Given the description of an element on the screen output the (x, y) to click on. 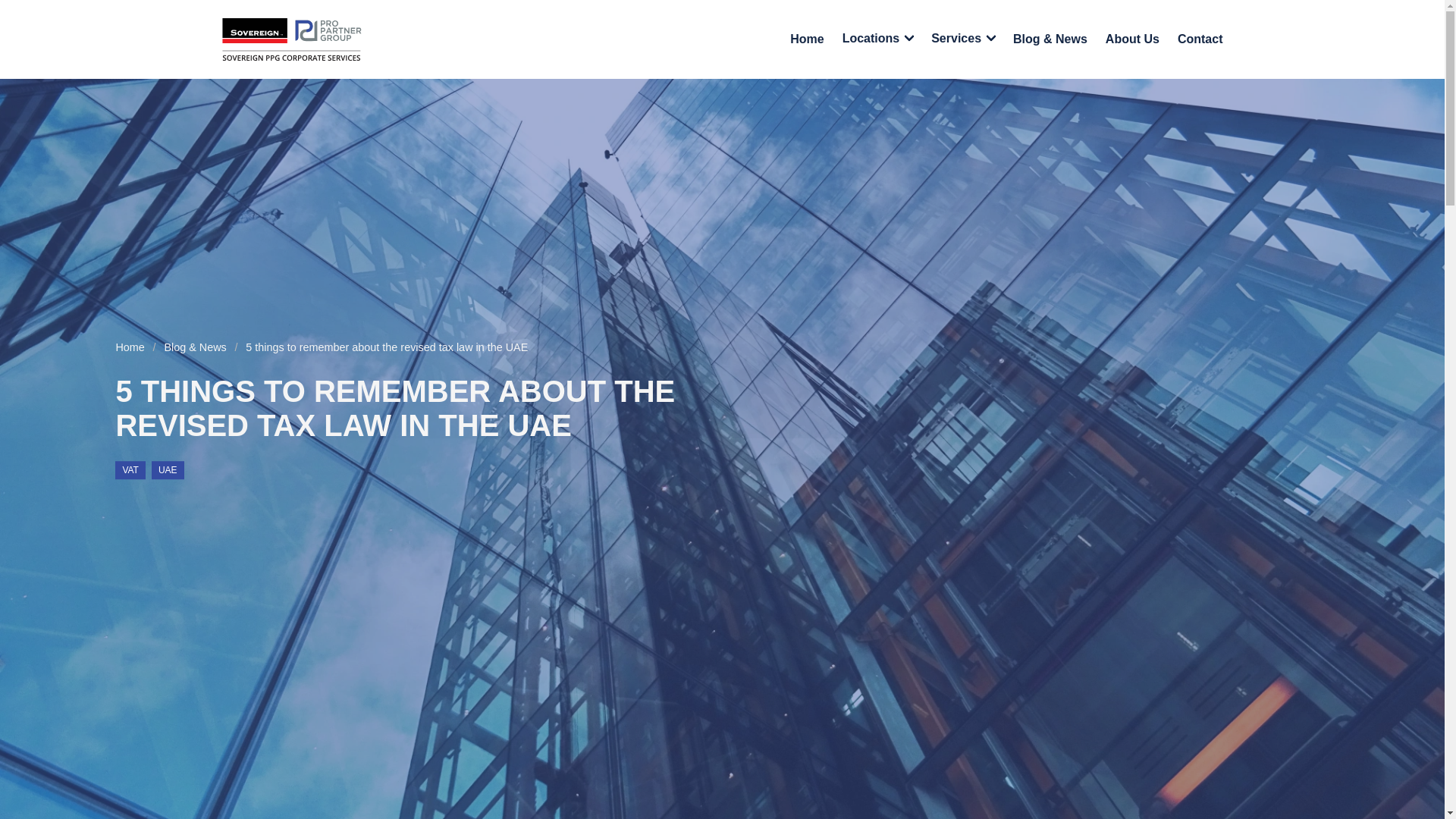
UAE (167, 470)
5 things to remember about the revised tax law in the UAE (387, 347)
Locations (877, 38)
Home (806, 39)
About Us (1132, 39)
VAT (130, 470)
Contact (1200, 39)
Home (133, 347)
Services (962, 38)
